Given the description of an element on the screen output the (x, y) to click on. 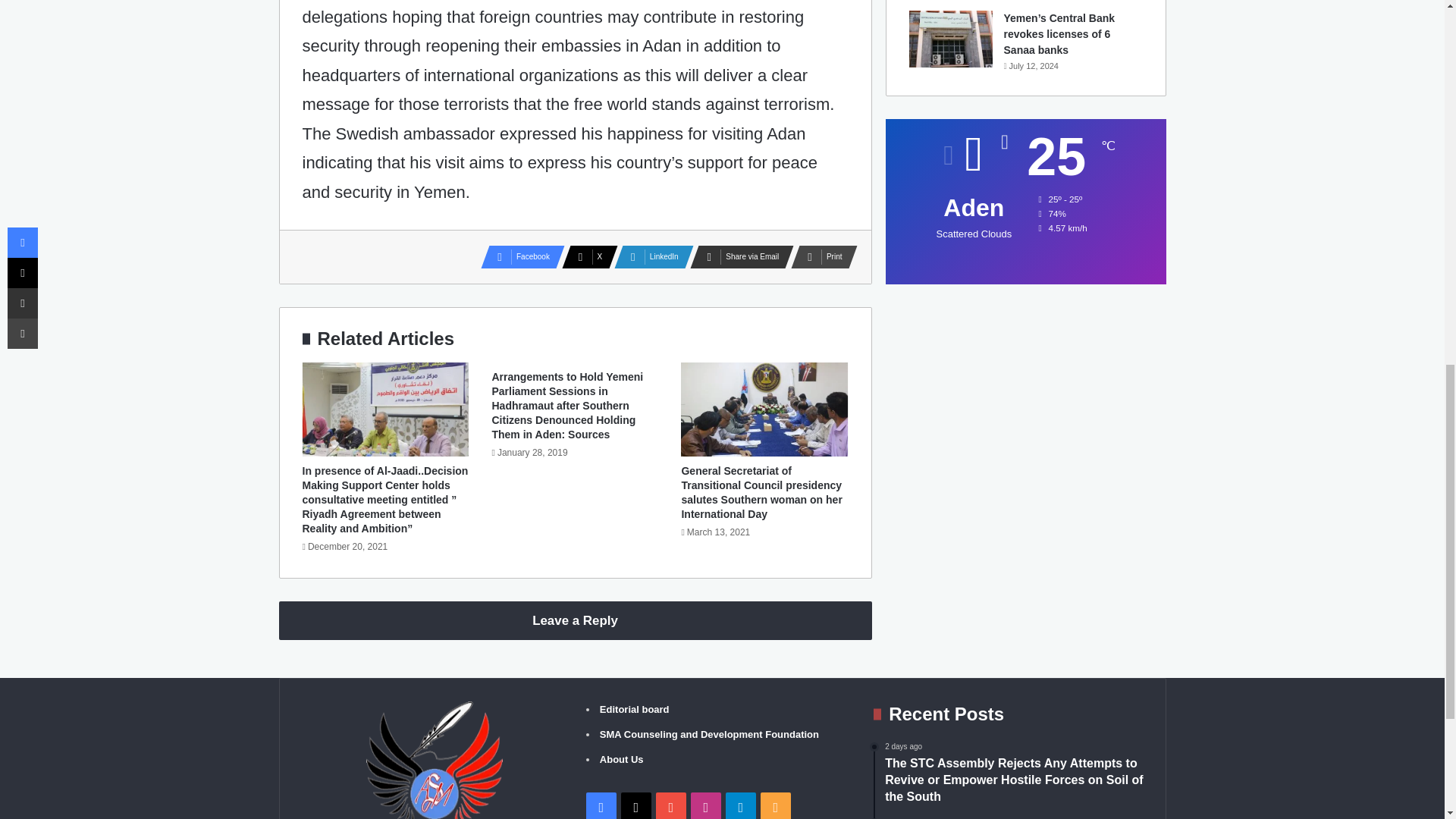
Share via Email (737, 256)
Leave a Reply (575, 620)
X (585, 256)
Print (819, 256)
Facebook (518, 256)
LinkedIn (649, 256)
Share via Email (737, 256)
LinkedIn (649, 256)
